Given the description of an element on the screen output the (x, y) to click on. 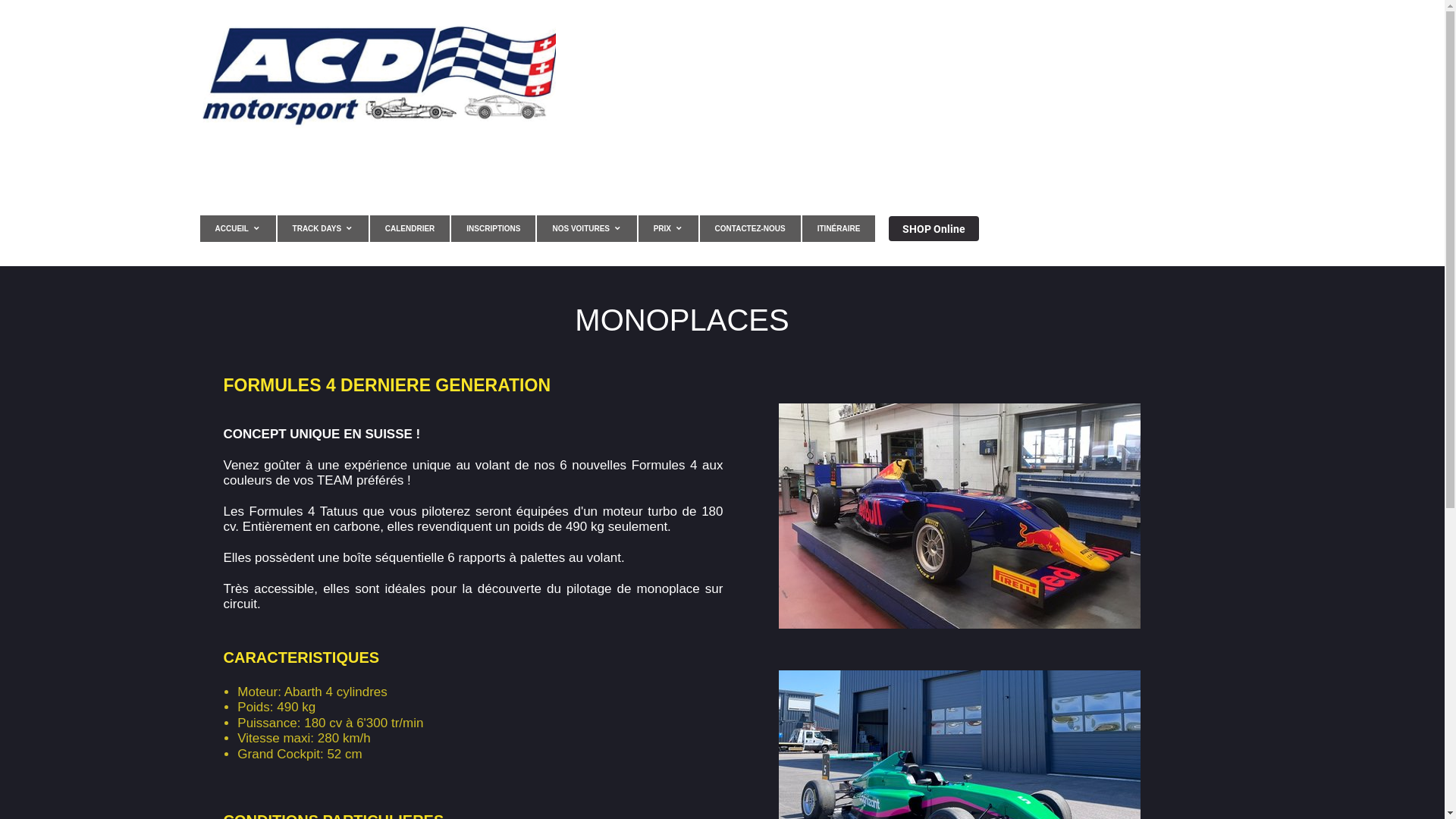
PRIX Element type: text (668, 228)
TRACK DAYS Element type: text (322, 228)
INSCRIPTIONS Element type: text (493, 228)
CALENDRIER Element type: text (410, 228)
SHOP Online Element type: text (932, 228)
CONTACTEZ-NOUS Element type: text (749, 228)
NOS VOITURES Element type: text (586, 228)
ACCUEIL Element type: text (238, 228)
